Given the description of an element on the screen output the (x, y) to click on. 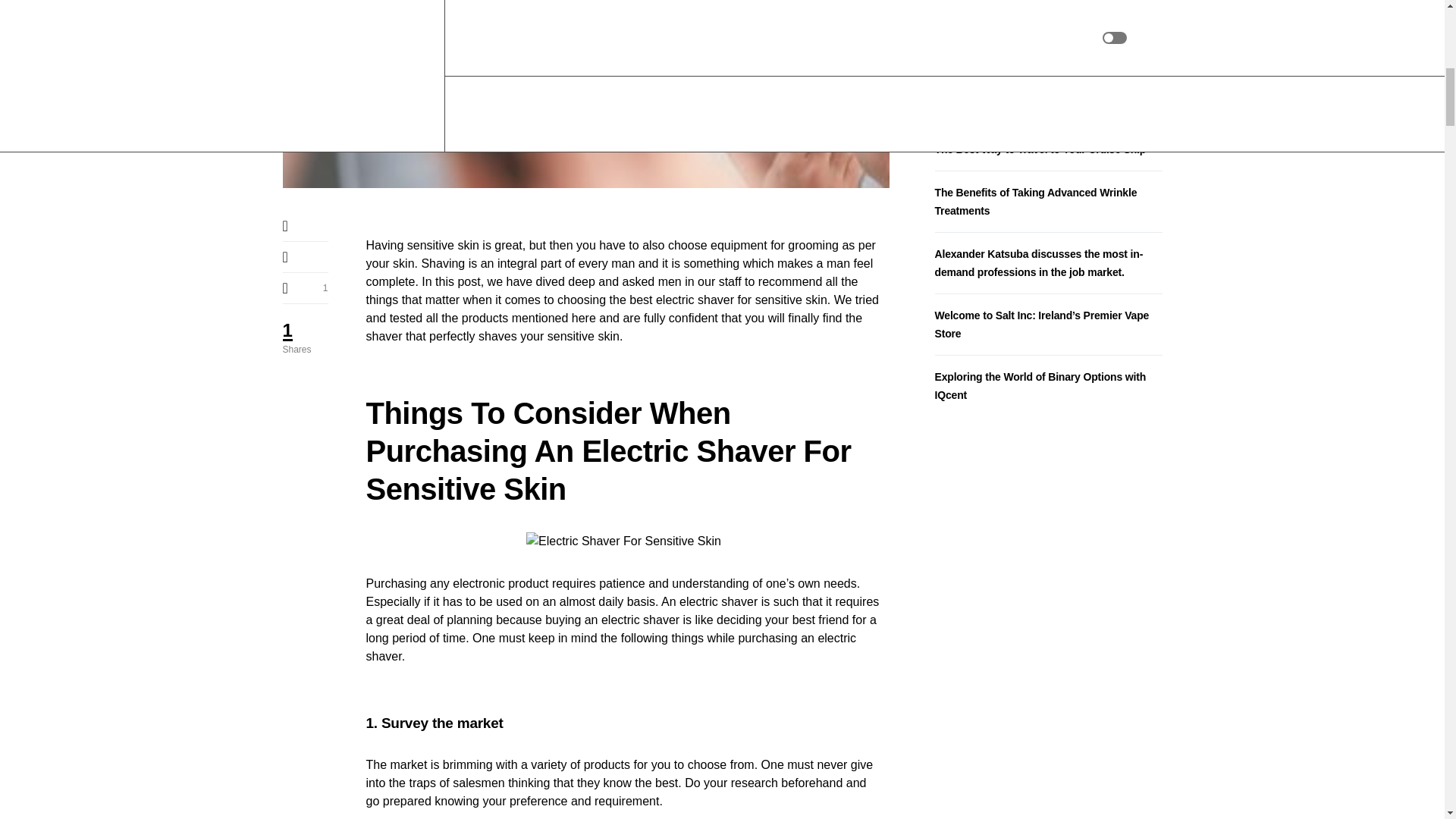
Electric Shaver For Sensitive Skin (622, 541)
